Given the description of an element on the screen output the (x, y) to click on. 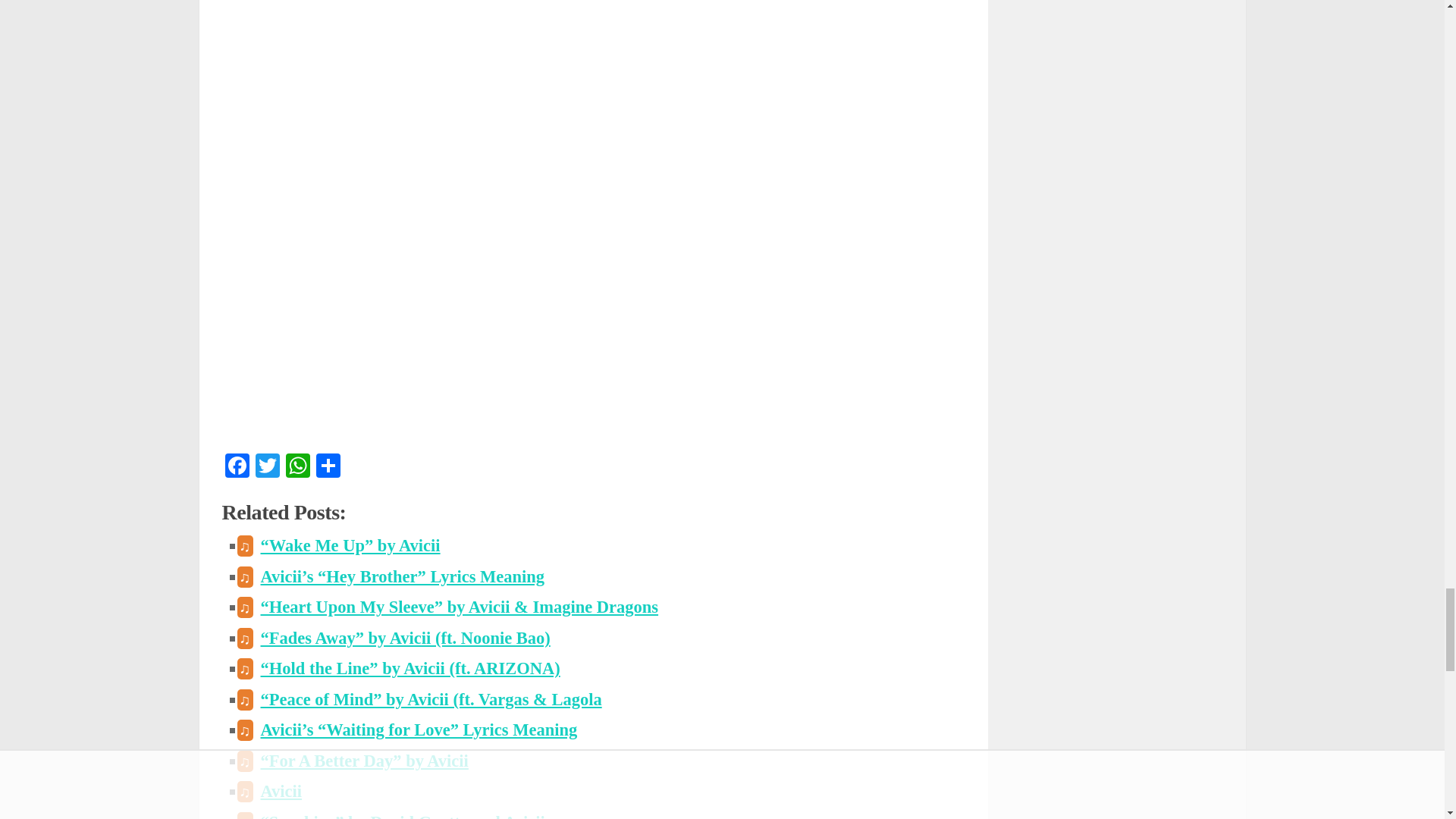
Avicii (281, 791)
Facebook (236, 467)
Share (327, 467)
WhatsApp (297, 467)
Facebook (236, 467)
Twitter (266, 467)
Twitter (266, 467)
WhatsApp (297, 467)
